Given the description of an element on the screen output the (x, y) to click on. 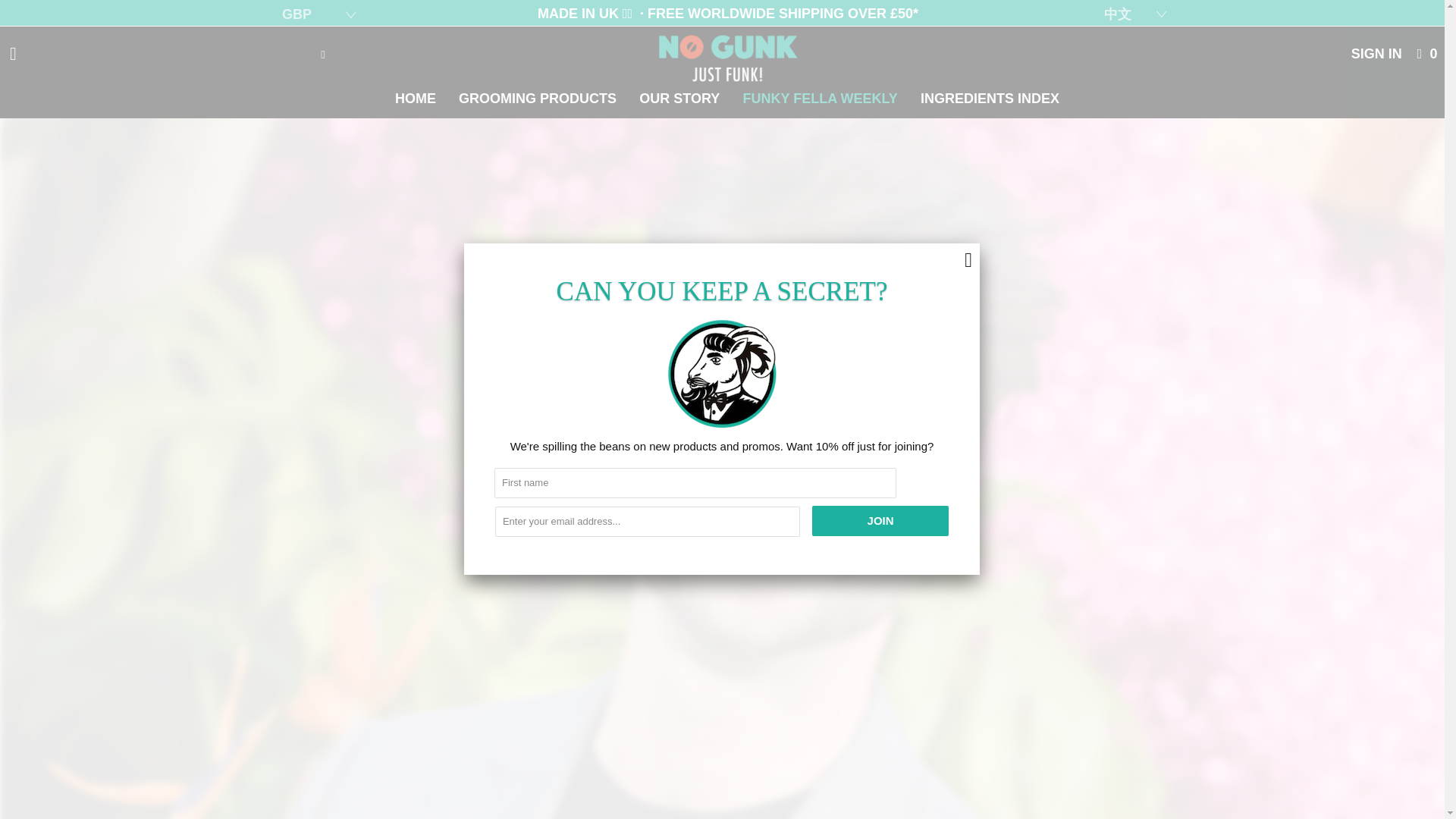
OUR STORY (679, 98)
My Account  (1376, 53)
FUNKY FELLA WEEKLY (820, 98)
HOME (416, 98)
0 (1427, 53)
Join (880, 521)
GROOMING PRODUCTS (538, 98)
INGREDIENTS INDEX (990, 98)
NO GUNK (728, 54)
SIGN IN (1376, 53)
